Given the description of an element on the screen output the (x, y) to click on. 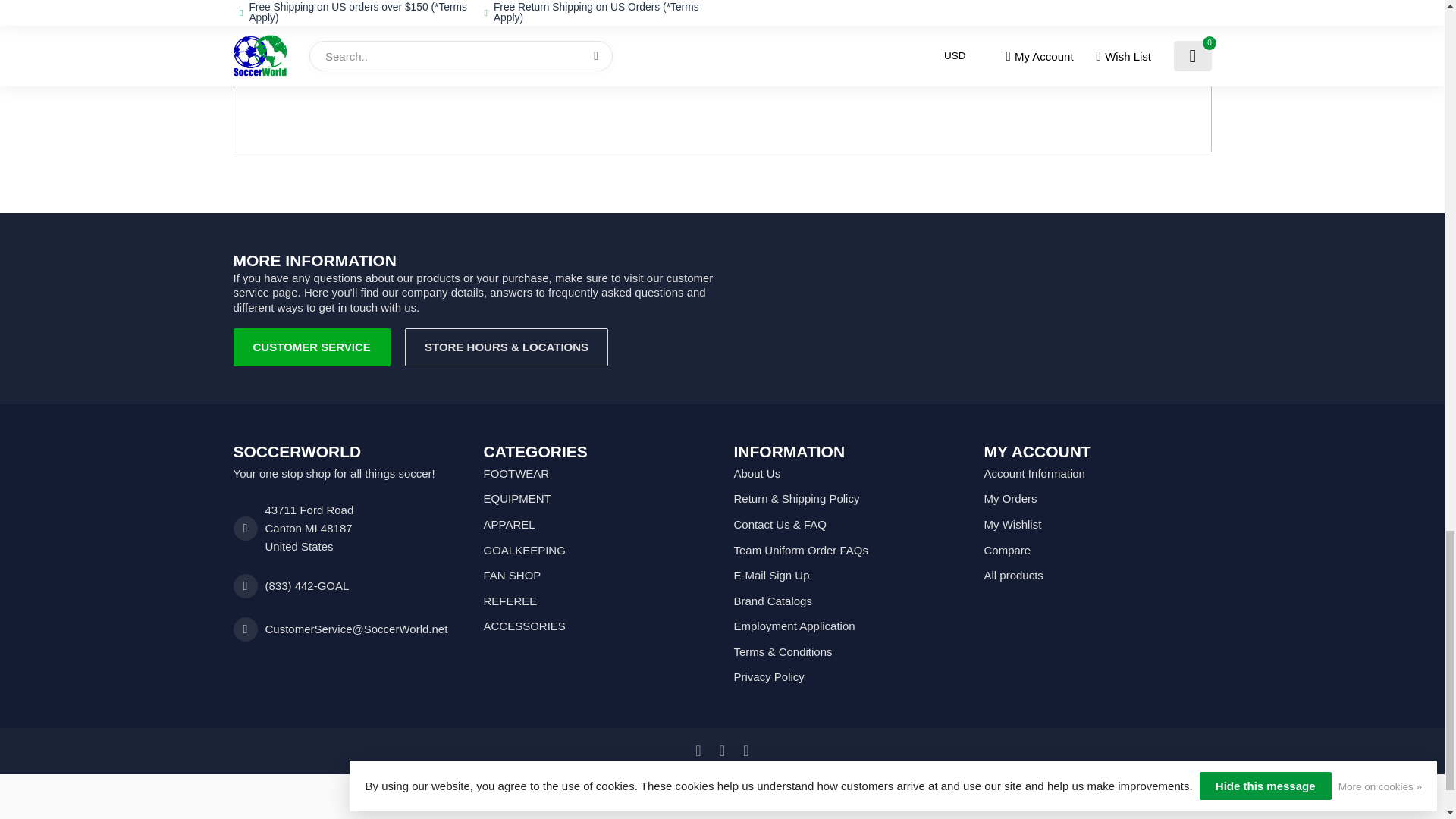
Brand Catalogs (846, 601)
Employment Application (846, 626)
Team Uniform Order FAQs (846, 550)
About Us (846, 473)
E-Mail Sign Up (846, 575)
